Given the description of an element on the screen output the (x, y) to click on. 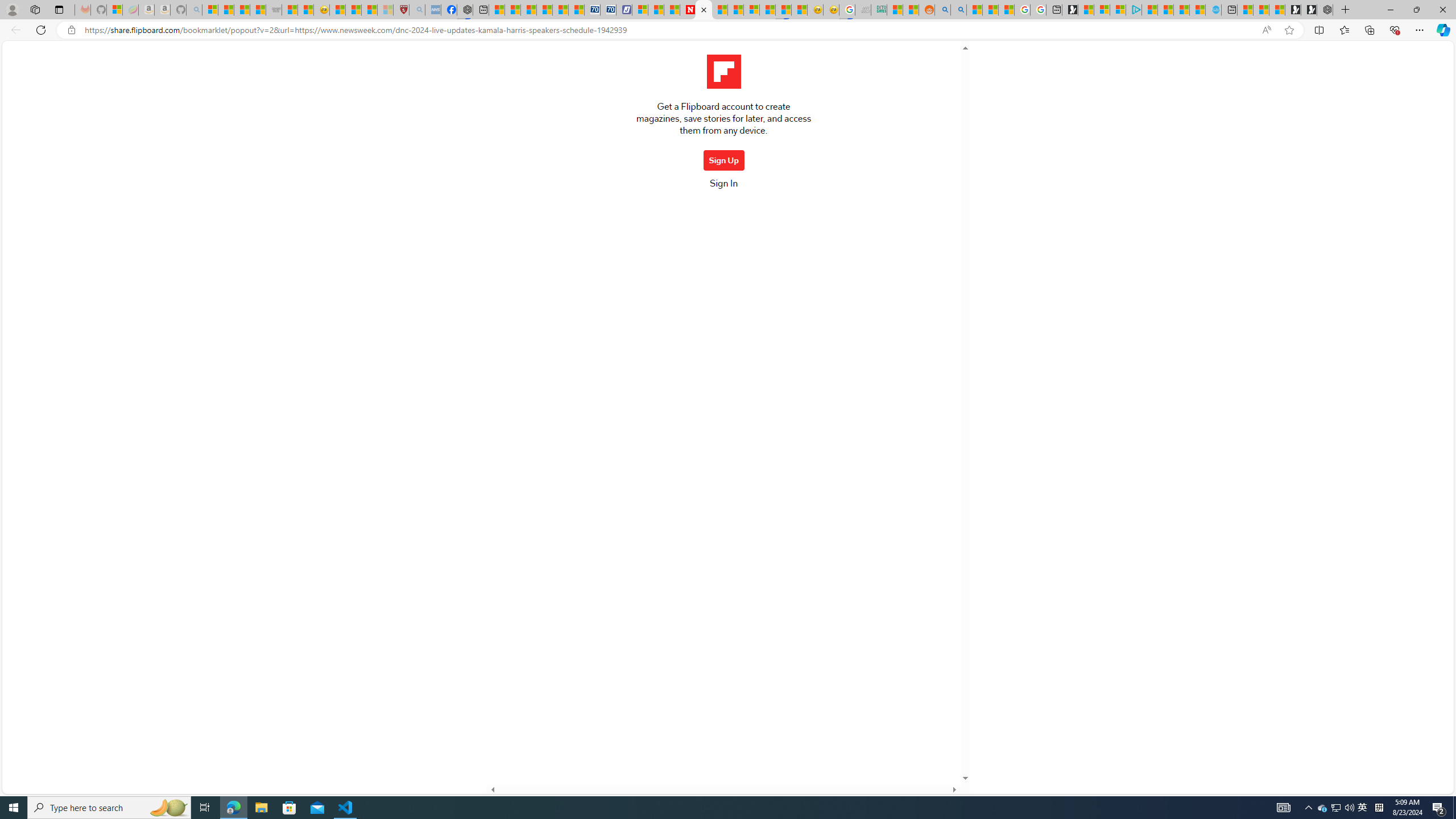
Science - MSN (368, 9)
Microsoft Start Gaming (1070, 9)
Utah sues federal government - Search (958, 9)
Sign In (723, 186)
